Given the description of an element on the screen output the (x, y) to click on. 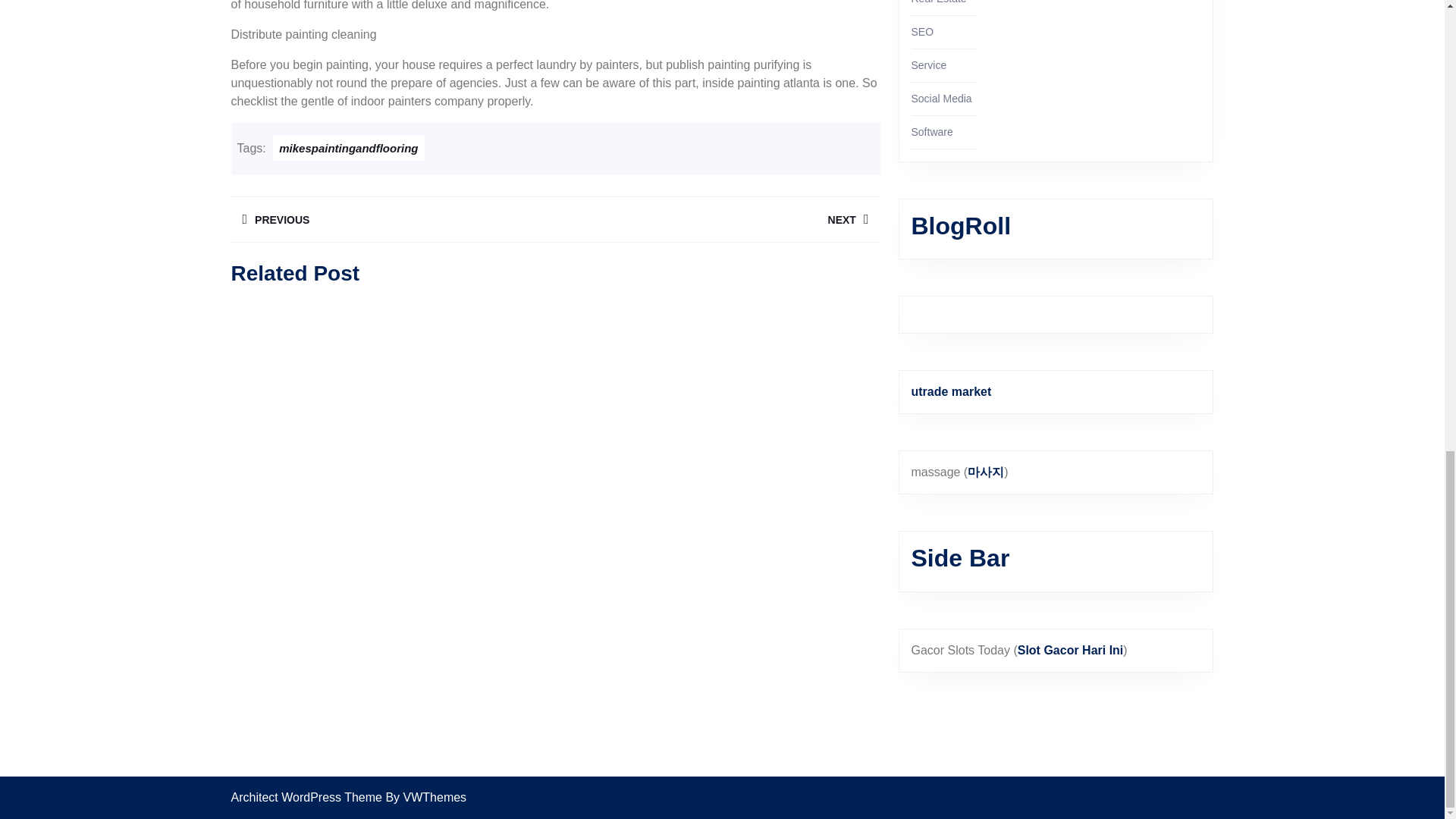
mikespaintingandflooring (392, 219)
